Given the description of an element on the screen output the (x, y) to click on. 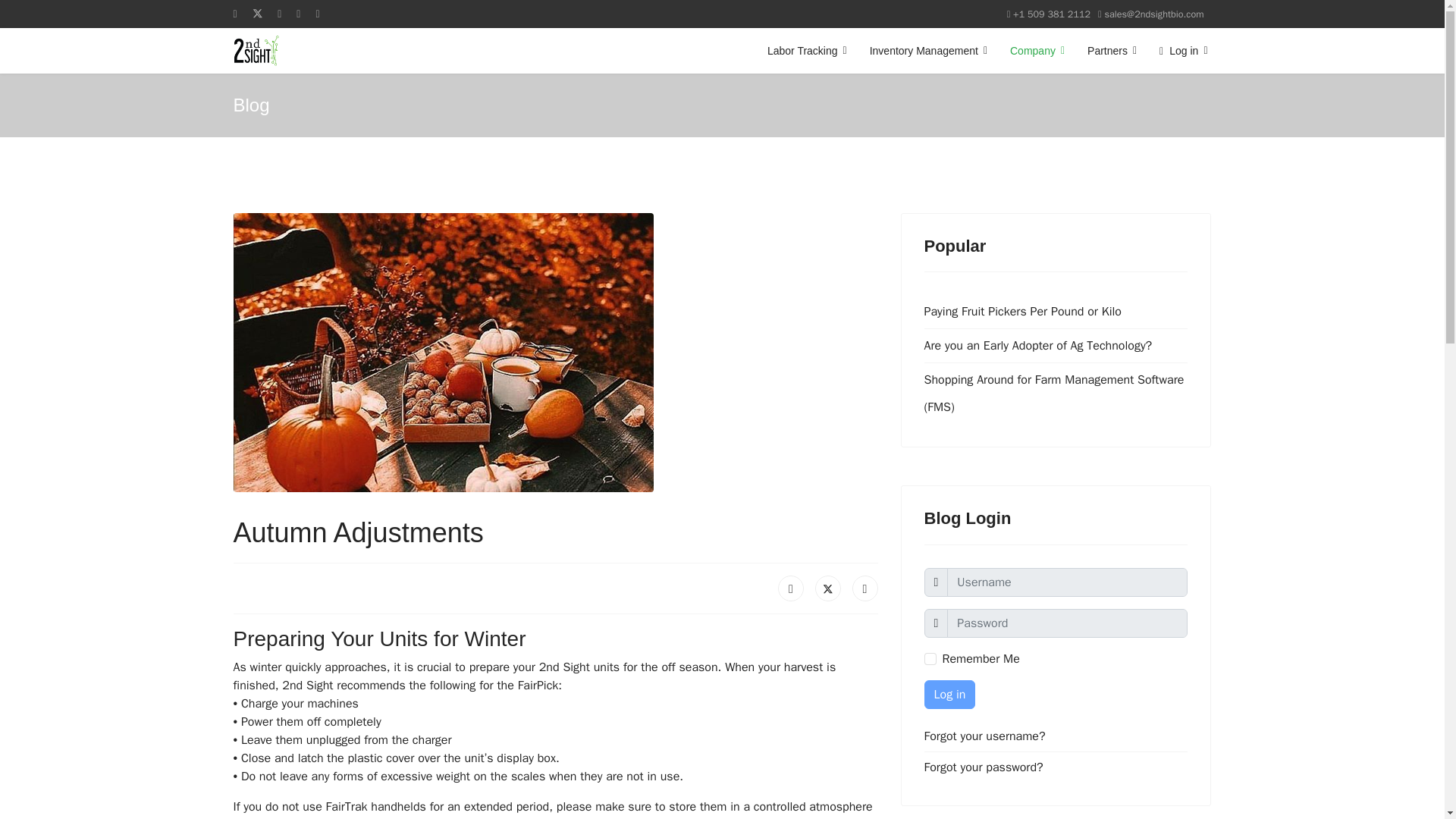
yes (929, 658)
Labor Tracking (807, 50)
Company (1036, 50)
Paying Fruit Pickers Per Pound or Kilo (1055, 311)
LinkedIn (864, 588)
Facebook (790, 588)
Inventory Management (928, 50)
Partners (1111, 50)
Log in (1177, 50)
Are you an Early Adopter of Ag Technology? (1055, 345)
